Given the description of an element on the screen output the (x, y) to click on. 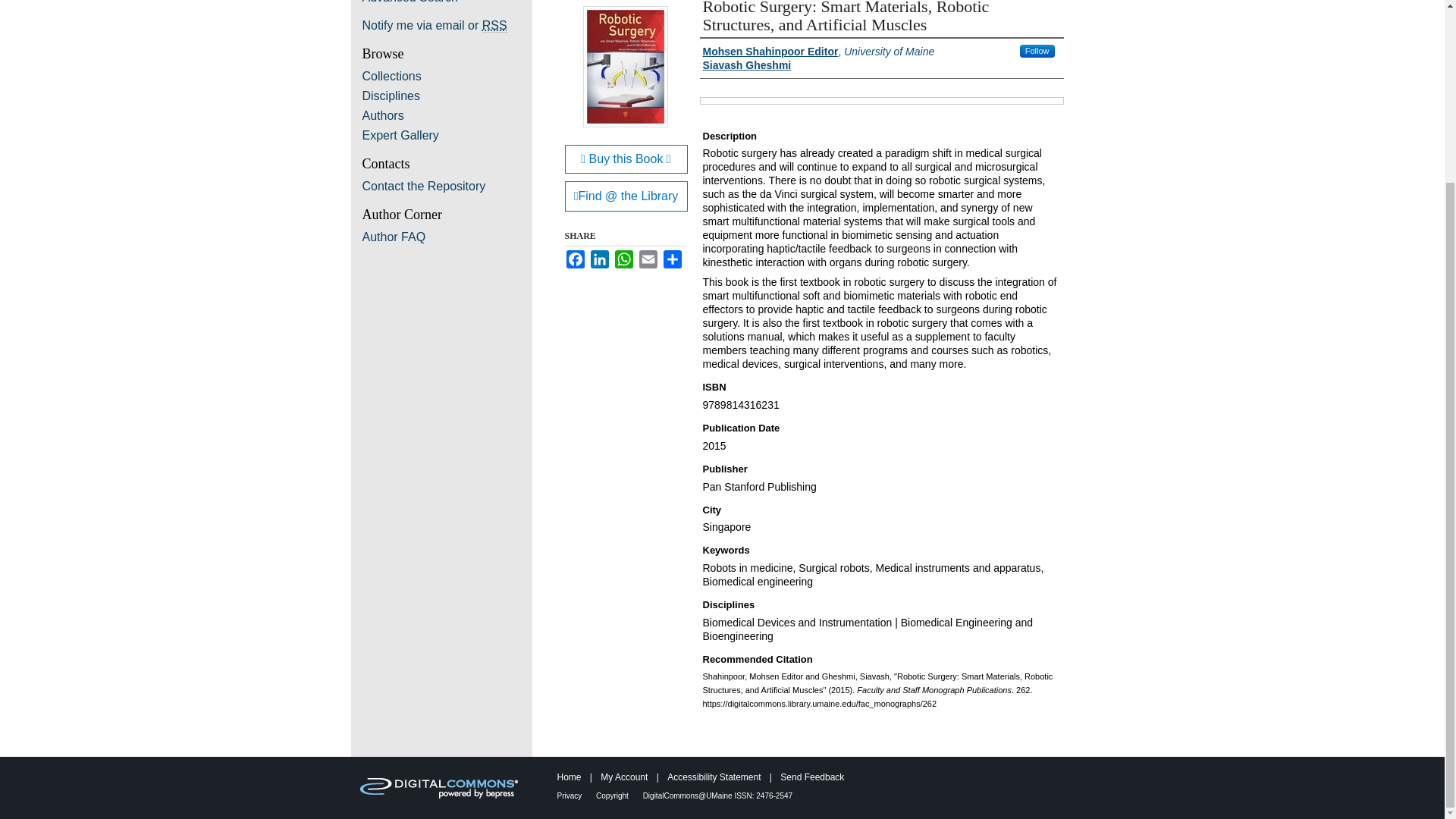
Share (671, 259)
Disciplines (447, 96)
Browse by Collections (447, 76)
Facebook (574, 259)
Email or RSS Notifications (447, 25)
Really Simple Syndication (493, 25)
WhatsApp (622, 259)
Email (647, 259)
Follow (1037, 51)
Buy this Book (625, 158)
Advanced Search (410, 2)
Browse by Disciplines (447, 96)
Mohsen Shahinpoor Editor, University of Maine (817, 51)
Collections (447, 76)
Follow Mohsen Shahinpoor Editor (1037, 51)
